Given the description of an element on the screen output the (x, y) to click on. 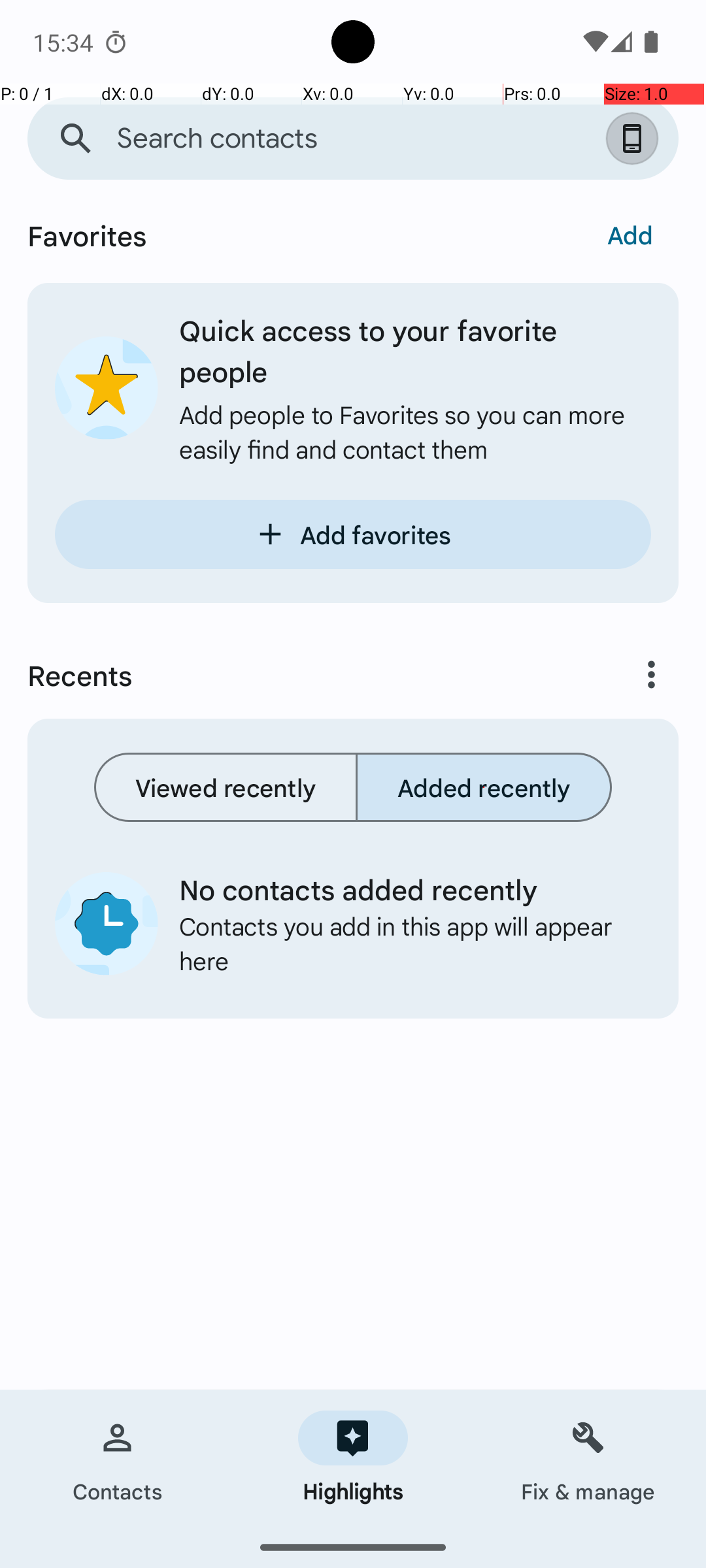
Quick access to your favorite people Element type: android.widget.TextView (415, 350)
Add people to Favorites so you can more easily find and contact them Element type: android.widget.TextView (415, 431)
Add favorites Element type: android.widget.Button (352, 534)
No contacts added recently Element type: android.widget.TextView (404, 888)
Contacts you add in this app will appear here Element type: android.widget.TextView (404, 942)
Viewed recently Element type: android.widget.CompoundButton (225, 787)
Added recently Element type: android.widget.CompoundButton (483, 787)
